Given the description of an element on the screen output the (x, y) to click on. 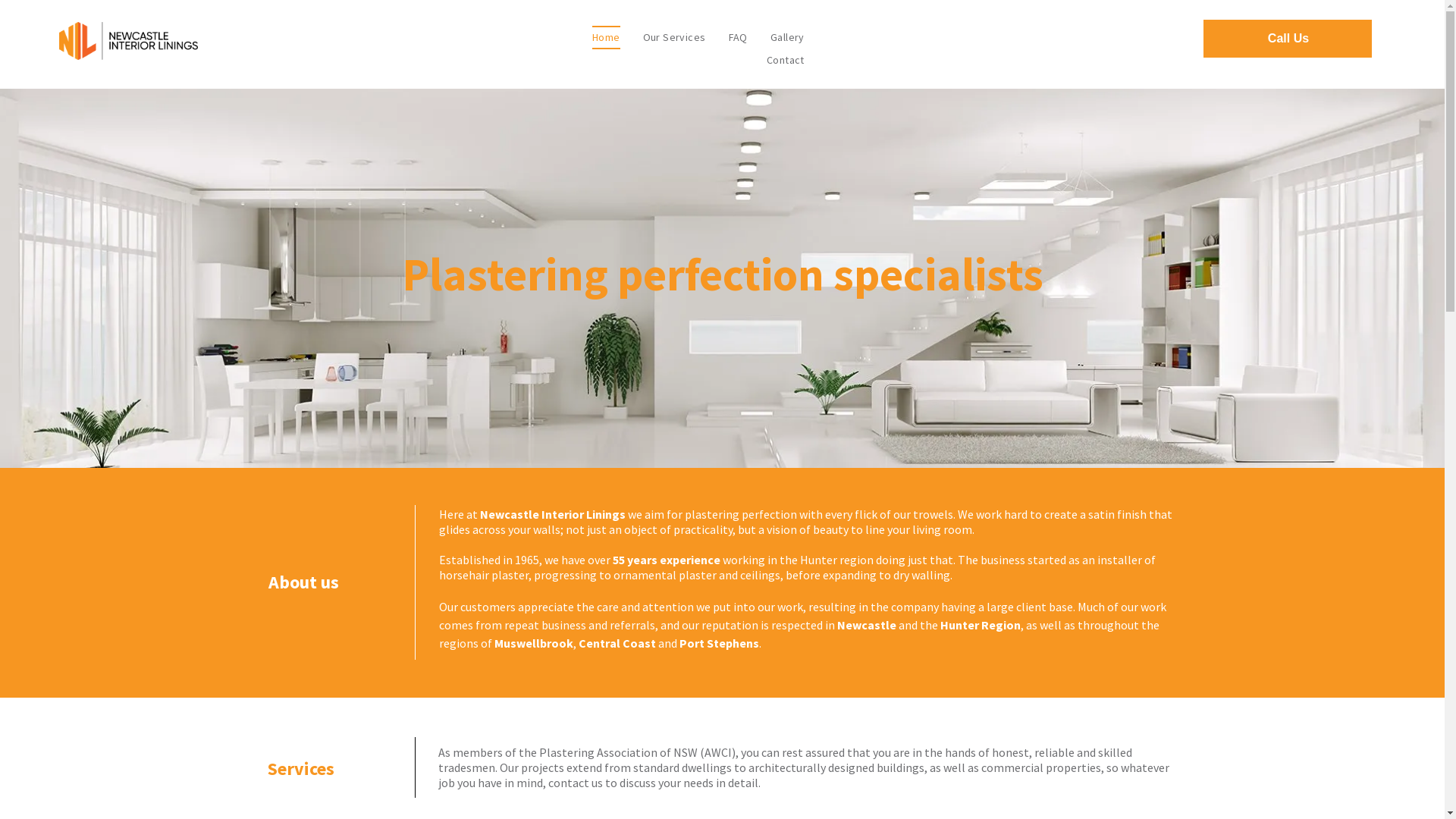
Home Element type: text (605, 37)
Contact Element type: text (785, 60)
Our Services Element type: text (674, 37)
Call Us Element type: text (1287, 38)
FAQ Element type: text (738, 37)
Gallery Element type: text (787, 37)
